Given the description of an element on the screen output the (x, y) to click on. 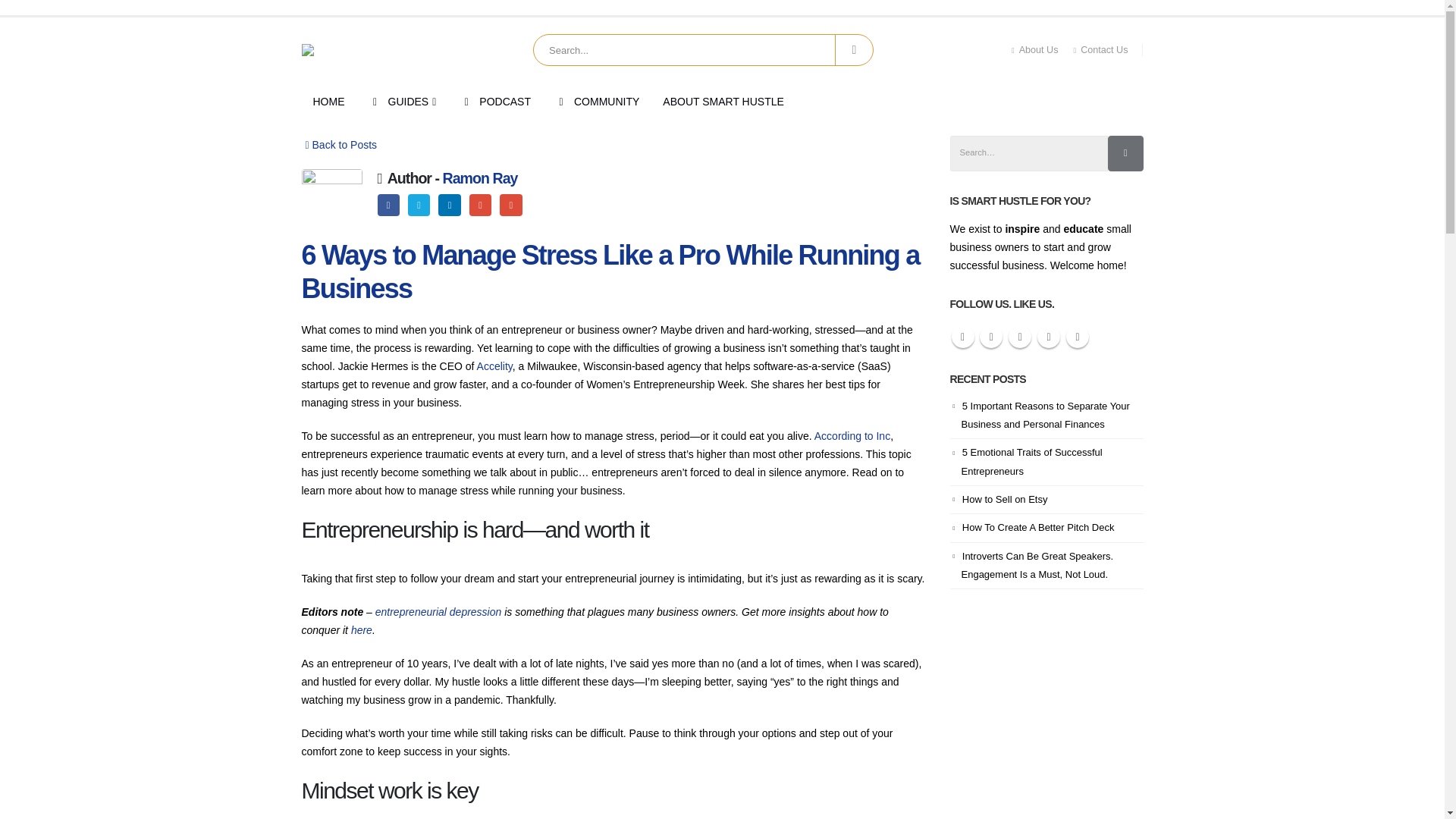
Twitter (418, 205)
Ramon Ray (480, 177)
Back to Posts (339, 144)
Contact Us (1100, 49)
Facebook (387, 205)
Twitter (418, 205)
ABOUT SMART HUSTLE (722, 101)
Email (510, 205)
Facebook (387, 205)
About Us (1038, 49)
